Given the description of an element on the screen output the (x, y) to click on. 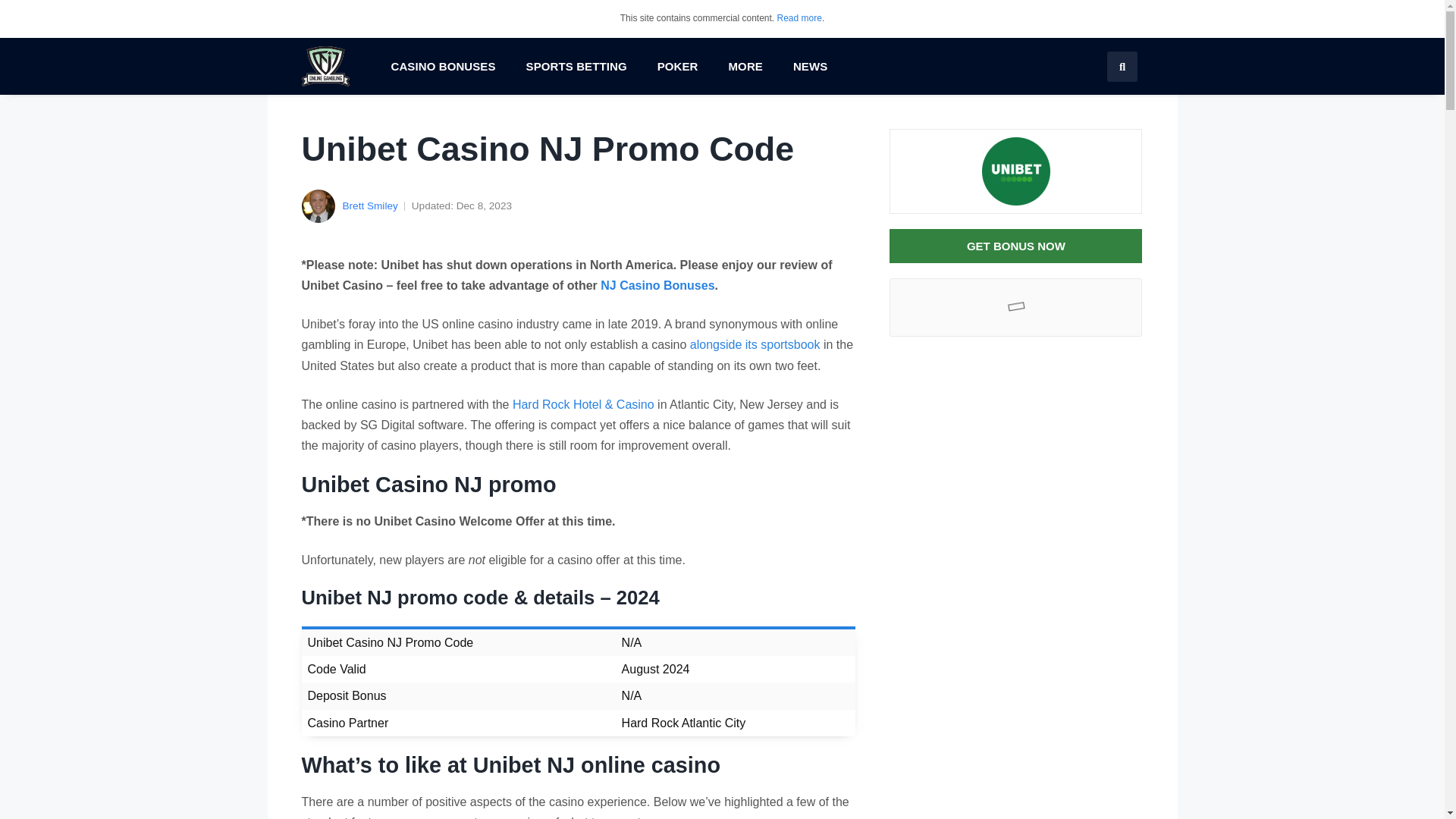
POKER (677, 66)
NJ Online Poker (677, 66)
Casino Bonuses (443, 66)
SPORTS BETTING (576, 66)
MORE (745, 66)
CASINO BONUSES (443, 66)
